Given the description of an element on the screen output the (x, y) to click on. 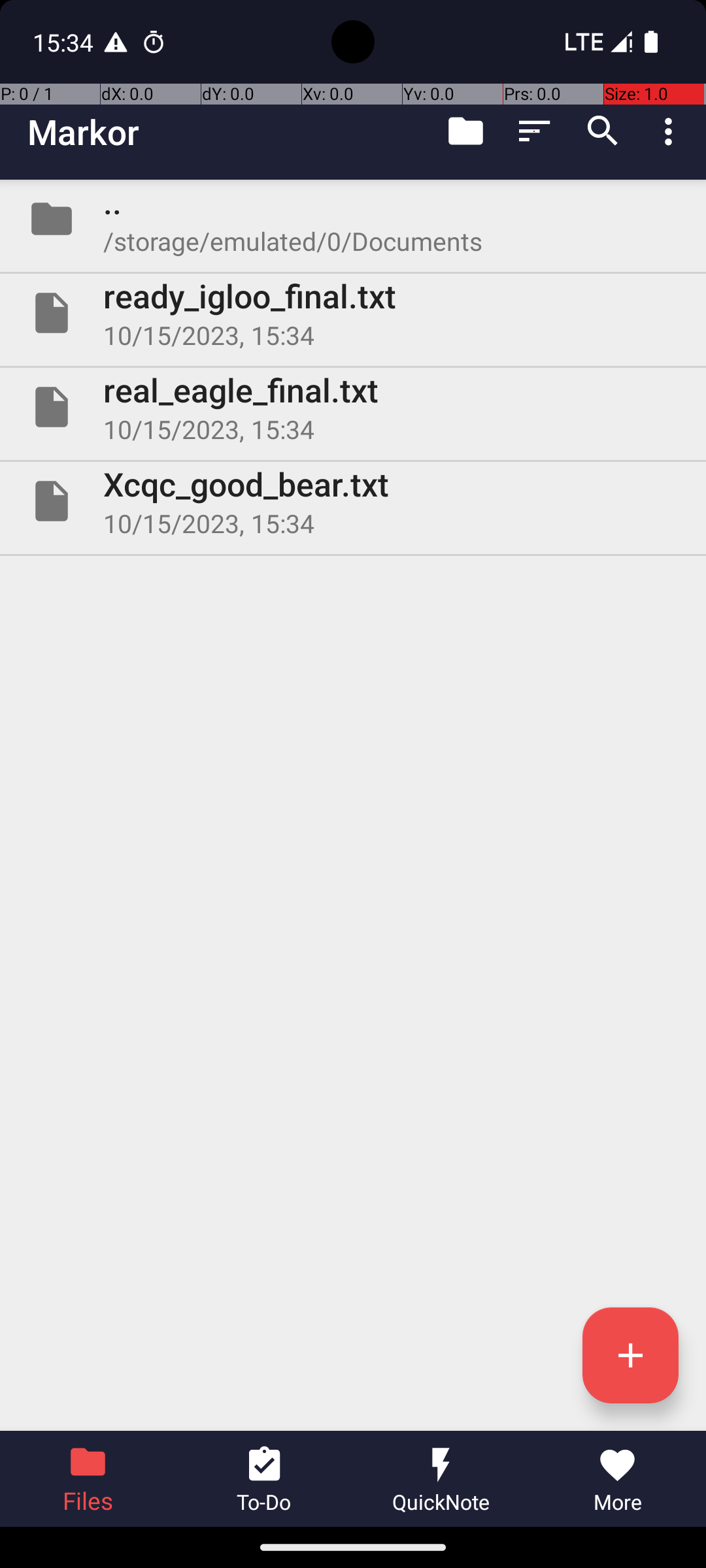
File ready_igloo_final.txt  Element type: android.widget.LinearLayout (353, 312)
File real_eagle_final.txt  Element type: android.widget.LinearLayout (353, 406)
File Xcqc_good_bear.txt  Element type: android.widget.LinearLayout (353, 500)
